Given the description of an element on the screen output the (x, y) to click on. 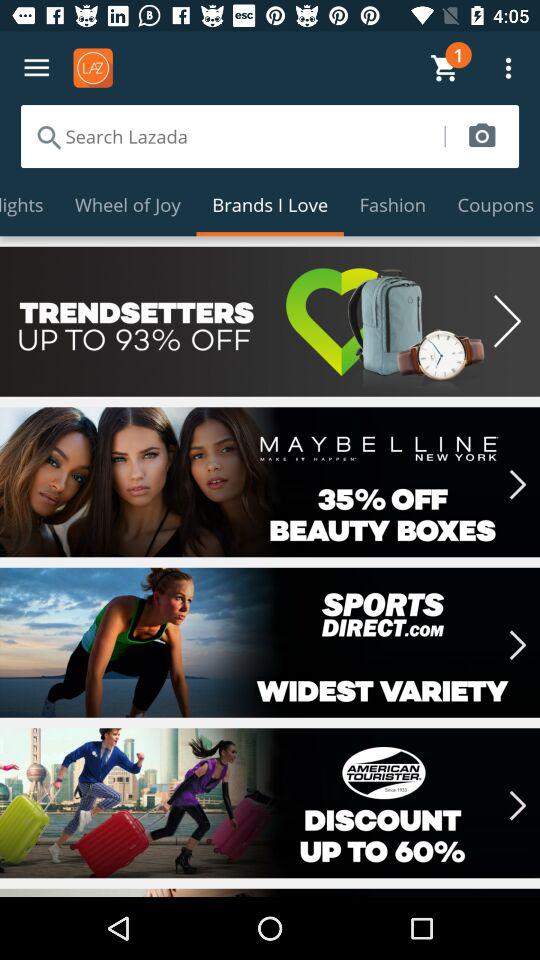
find product with photo (482, 136)
